Given the description of an element on the screen output the (x, y) to click on. 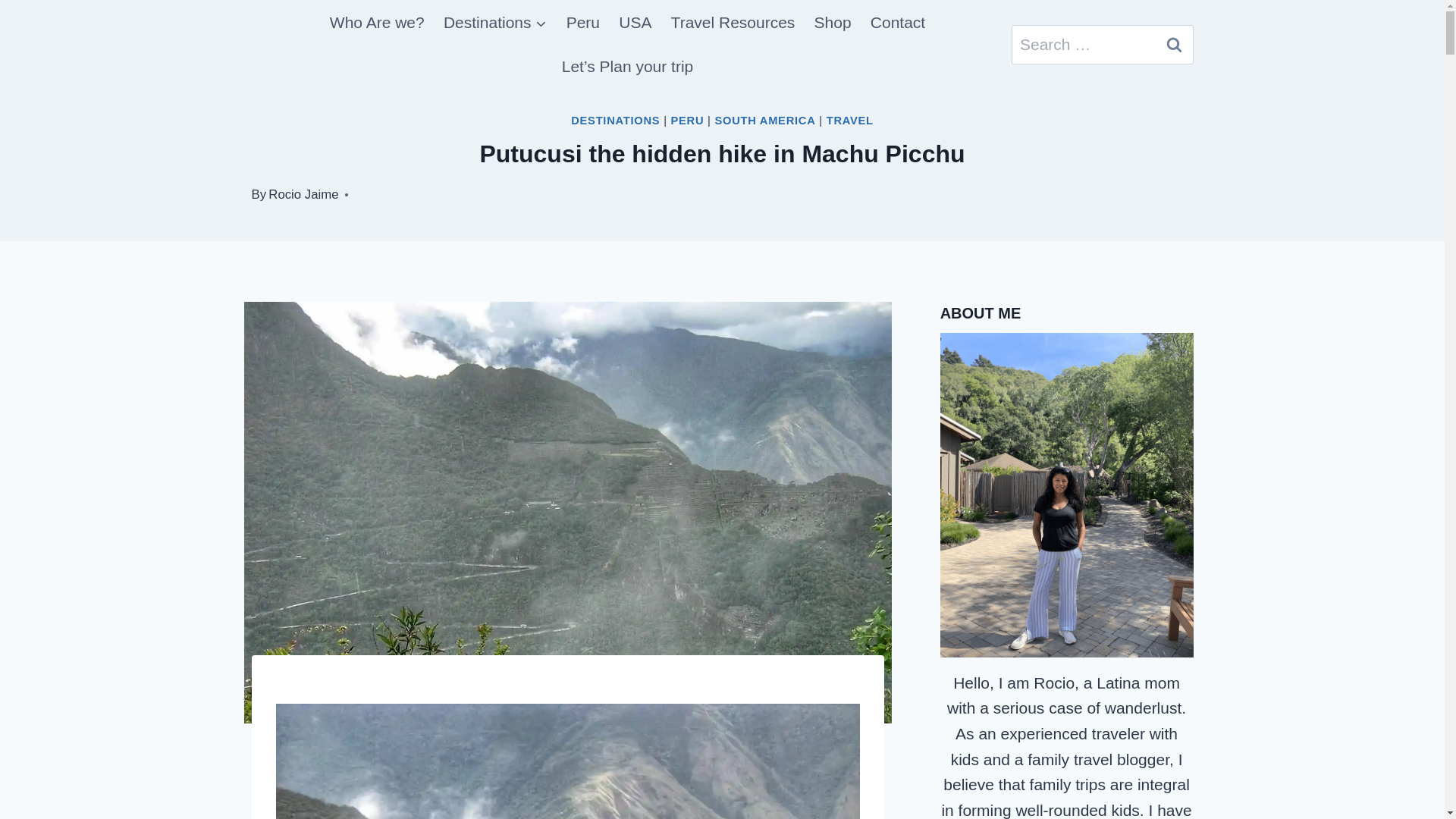
Search (1174, 44)
USA (635, 22)
Destinations (494, 22)
Who Are we? (376, 22)
Peru (583, 22)
Travel Resources (733, 22)
Contact (897, 22)
Shop (832, 22)
Search (1174, 44)
Search (1174, 44)
